Given the description of an element on the screen output the (x, y) to click on. 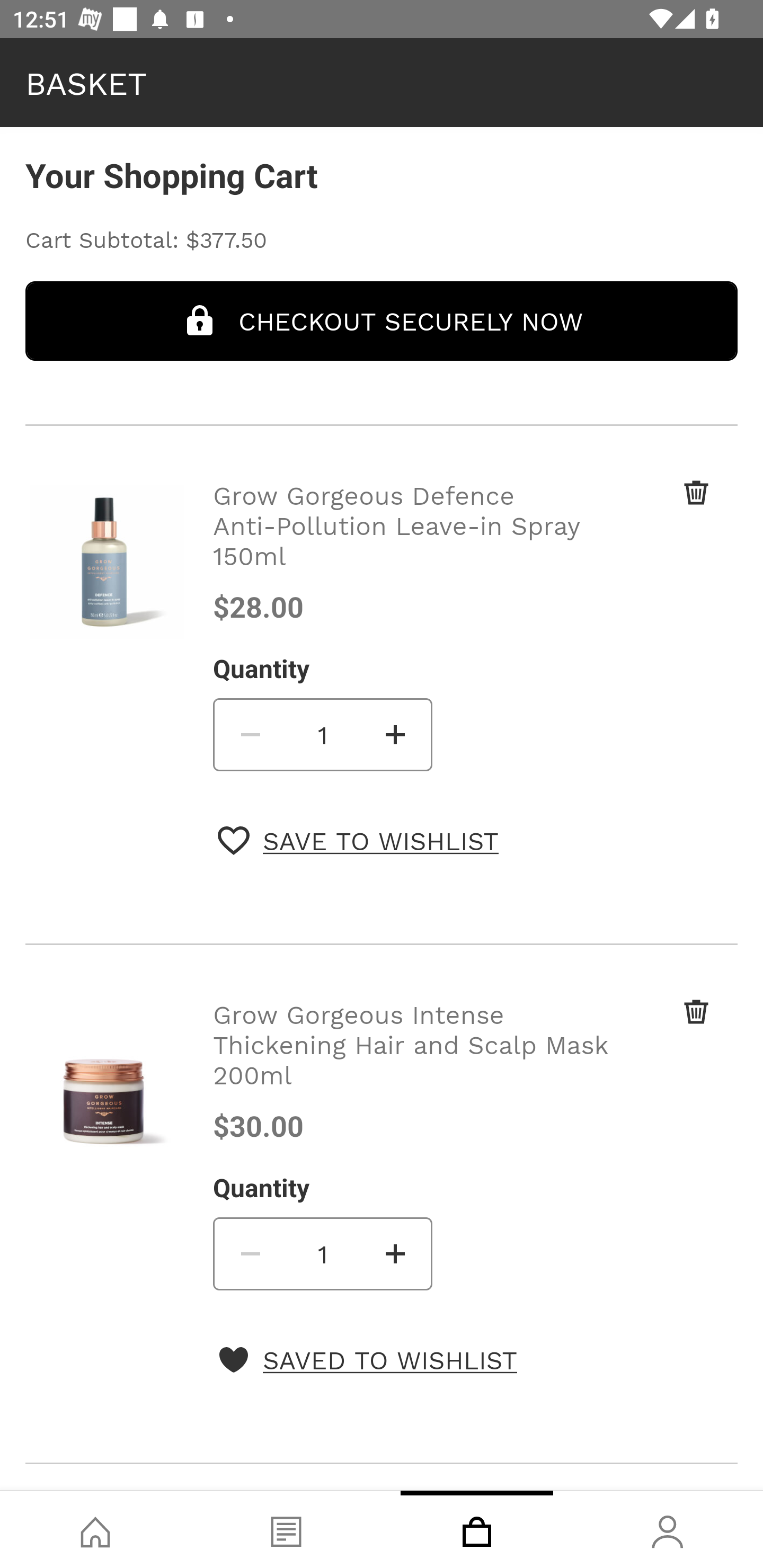
Checkout Securely Now CHECKOUT SECURELY NOW (381, 320)
Remove this item (661, 513)
Decrease quantity (249, 734)
Increase quantity (395, 734)
Save to Wishlist SAVE TO WISHLIST (357, 840)
Remove this item (661, 1032)
Decrease quantity (249, 1253)
Increase quantity (395, 1253)
Saved to Wishlist SAVED TO WISHLIST (366, 1359)
Shop, tab, 1 of 4 (95, 1529)
Blog, tab, 2 of 4 (285, 1529)
Basket, tab, 3 of 4 (476, 1529)
Account, tab, 4 of 4 (667, 1529)
